Given the description of an element on the screen output the (x, y) to click on. 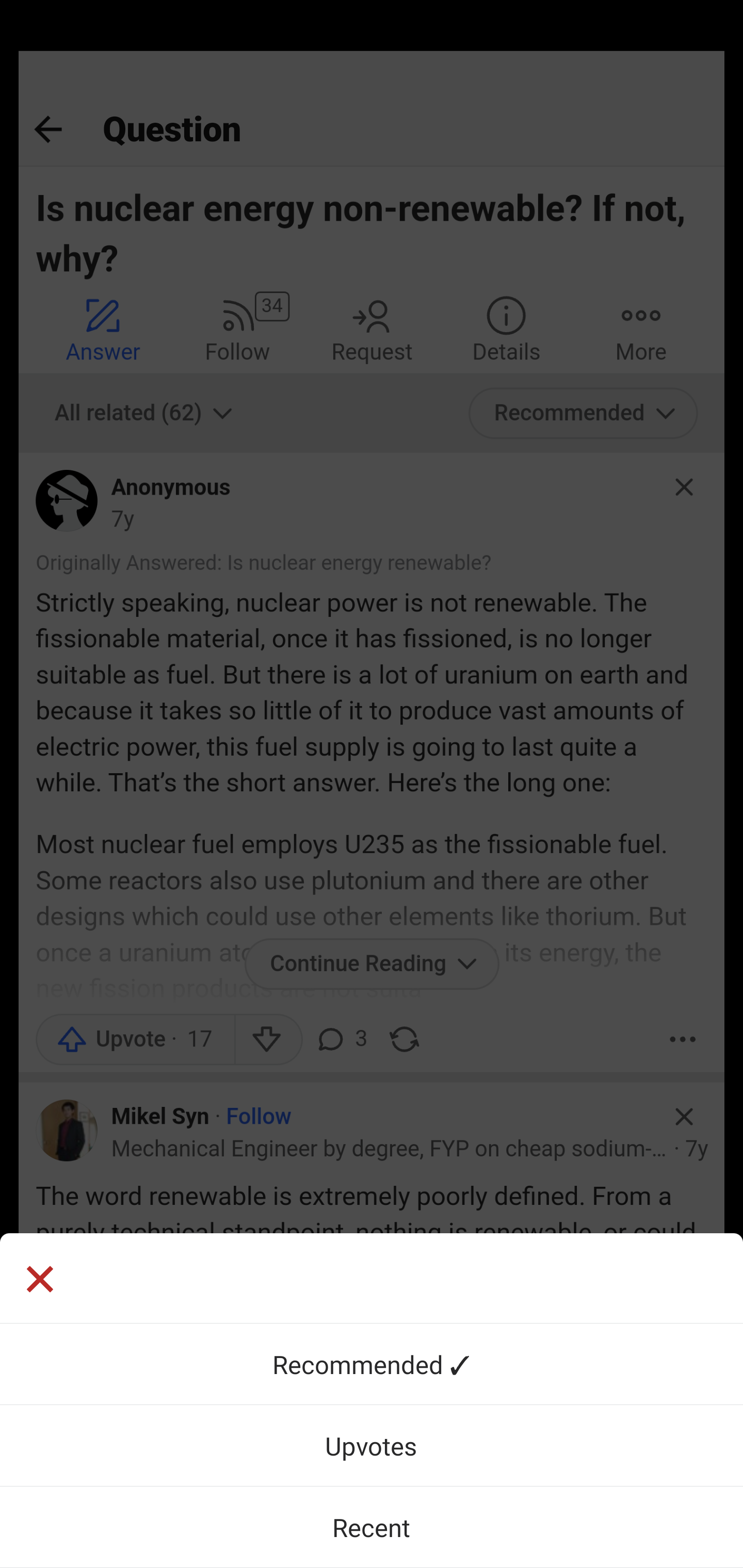
 (39, 1280)
